Given the description of an element on the screen output the (x, y) to click on. 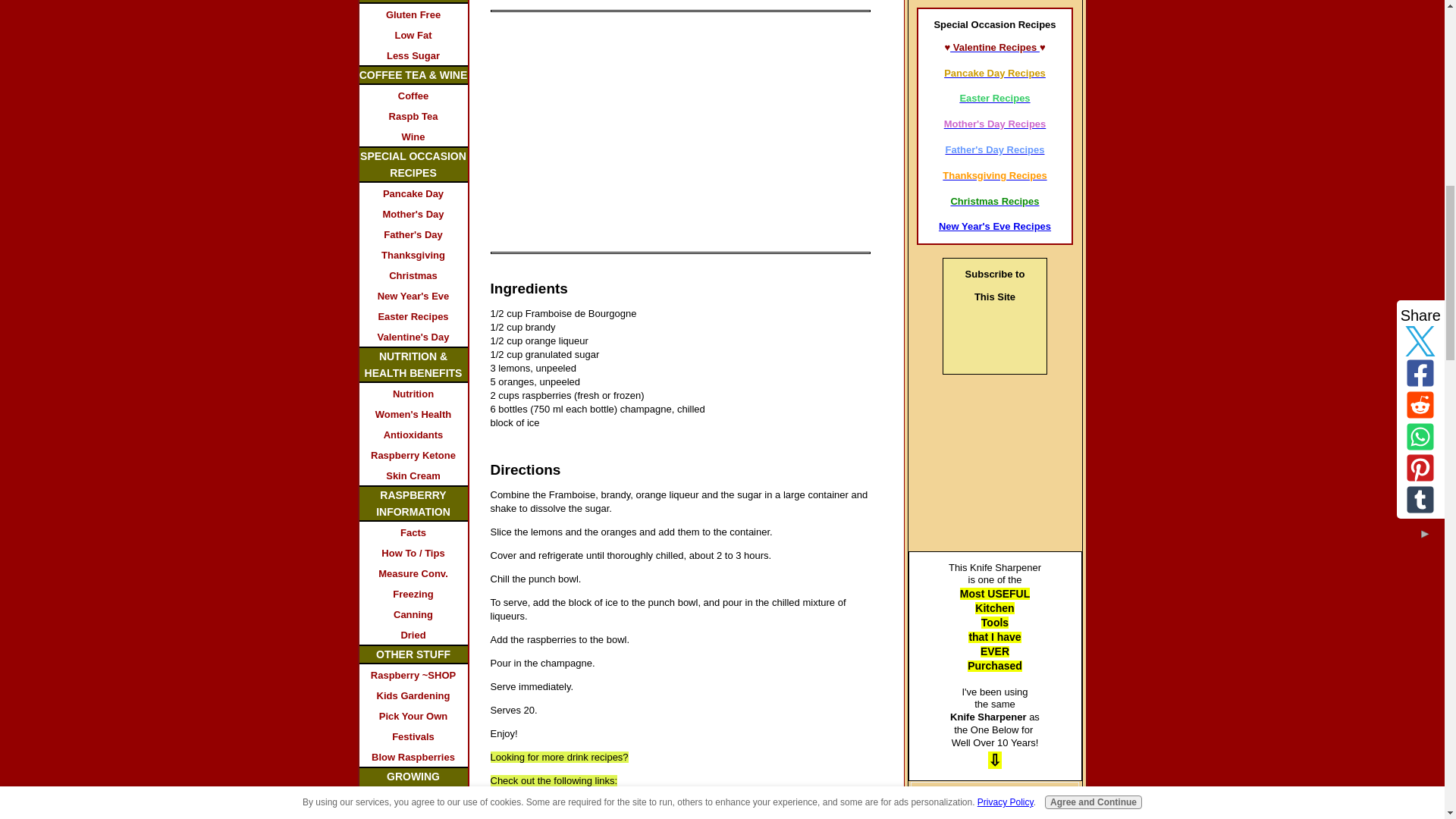
J.A. Henckels International Hand Sharpener (994, 809)
I Recommend Amazon (995, 467)
Advertisement (616, 136)
Raspberry DRINKS (562, 803)
